Given the description of an element on the screen output the (x, y) to click on. 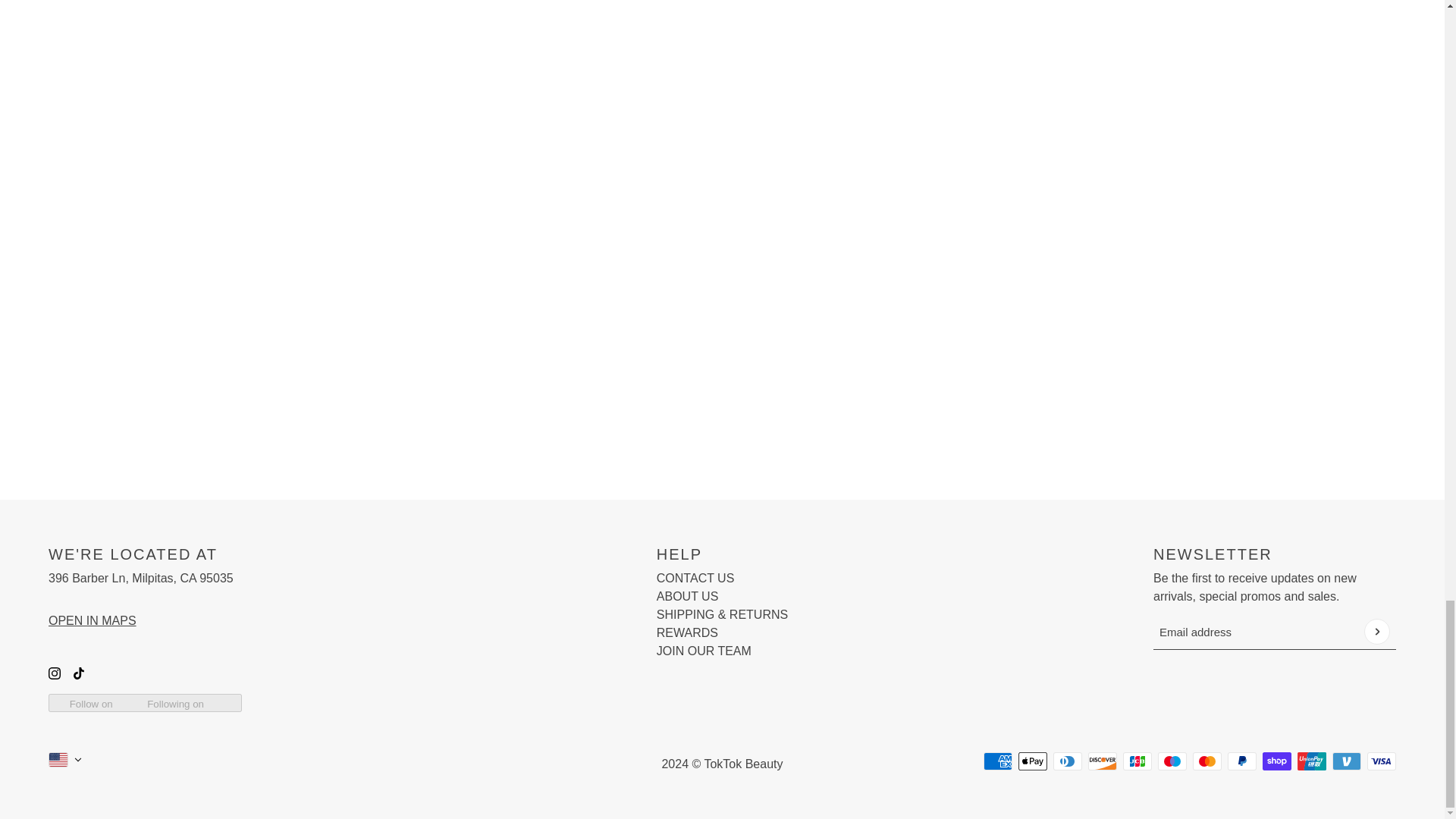
JOIN OUR TEAM (703, 650)
ABOUT US (687, 595)
REWARDS (686, 632)
CONTACT US (695, 577)
